Given the description of an element on the screen output the (x, y) to click on. 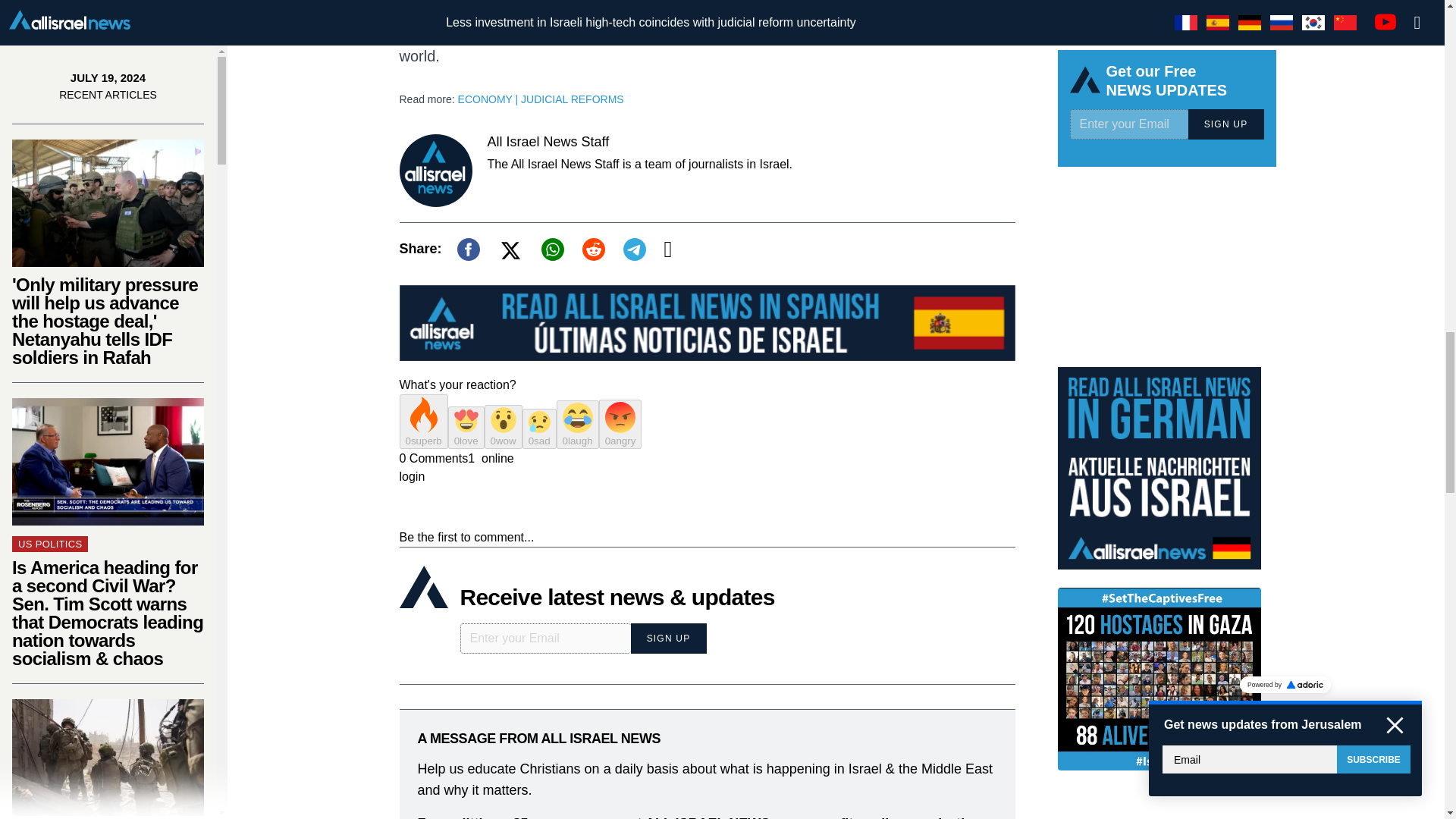
Part of a poster distributed by Michail Chkhikvishvili (107, 22)
